Given the description of an element on the screen output the (x, y) to click on. 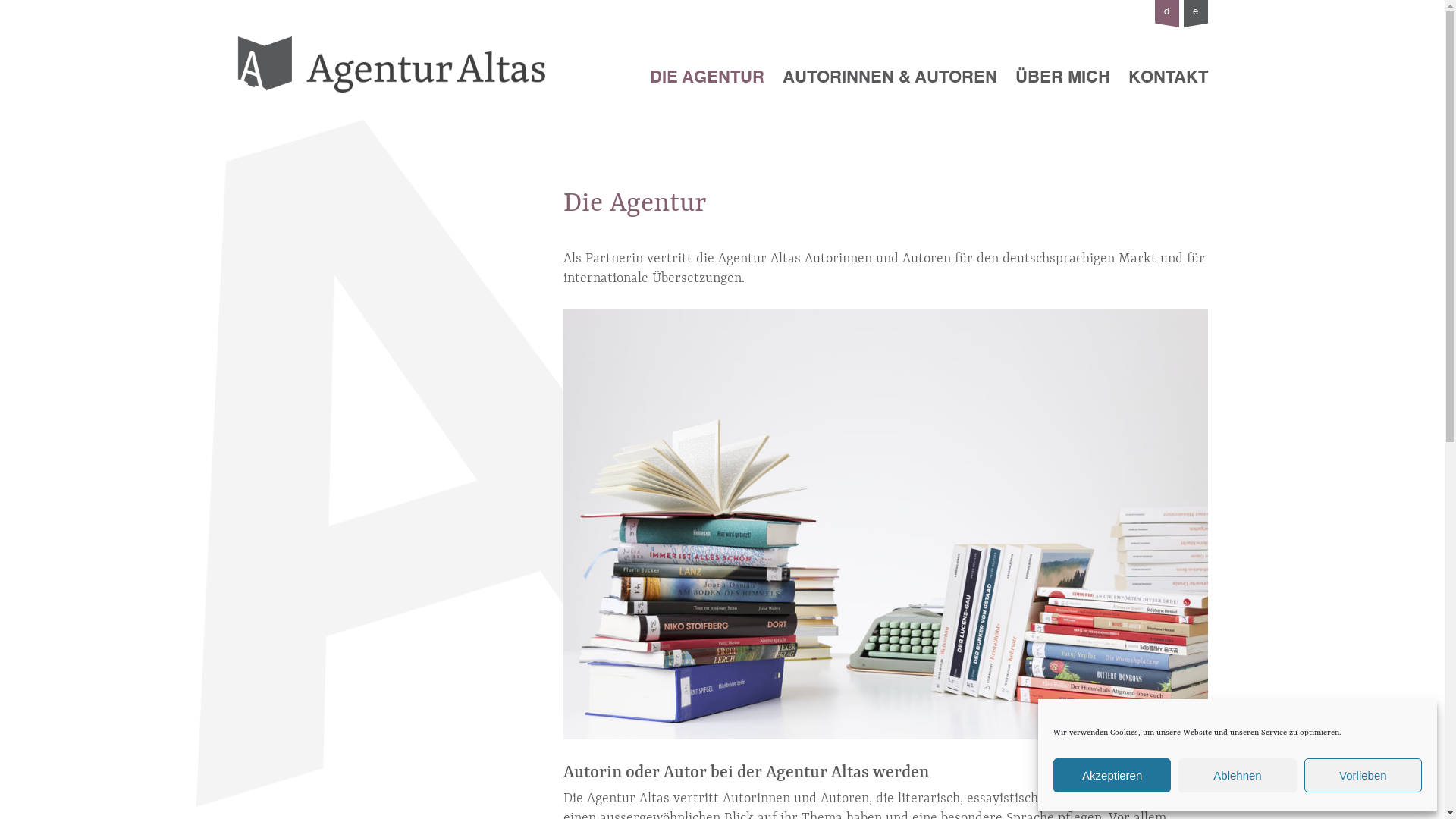
KONTAKT Element type: text (1168, 77)
DIE AGENTUR Element type: text (706, 77)
AUTORINNEN & AUTOREN Element type: text (889, 77)
Akzeptieren Element type: text (1111, 775)
Vorlieben Element type: text (1362, 775)
Ablehnen Element type: text (1236, 775)
